Given the description of an element on the screen output the (x, y) to click on. 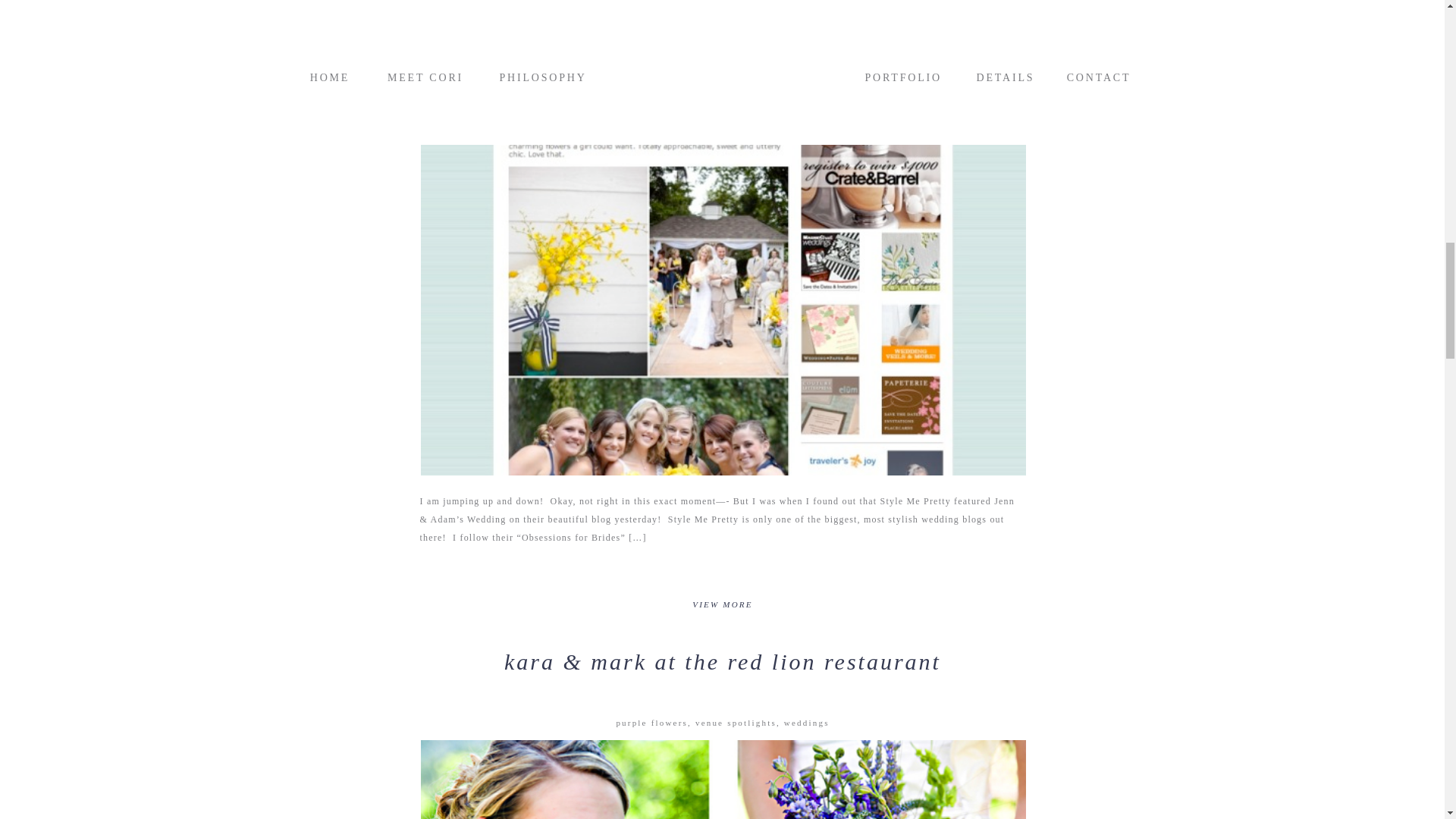
VIEW MORE (723, 609)
venue spotlights (735, 722)
featured on (722, 89)
style me pretty feature! (722, 27)
weddings (806, 722)
Style Me Pretty FEATURE! (723, 602)
purple flowers (651, 722)
